Given the description of an element on the screen output the (x, y) to click on. 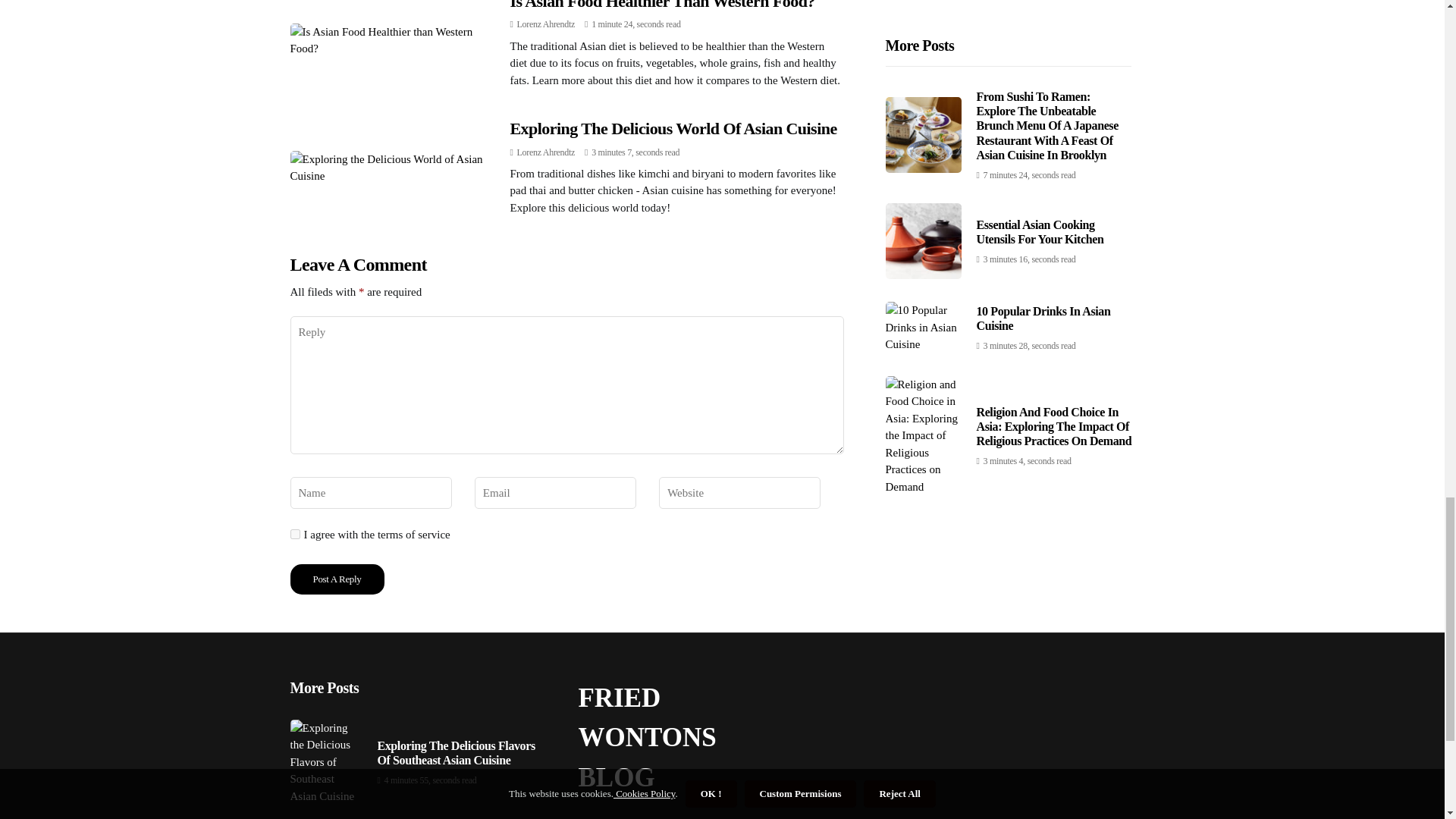
Posts by Lorenz Ahrendtz (545, 152)
Is Asian Food Healthier Than Western Food? (661, 5)
Post a Reply (336, 579)
Lorenz Ahrendtz (545, 23)
yes (294, 533)
Posts by Lorenz Ahrendtz (545, 23)
Post a Reply (336, 579)
Exploring The Delicious World Of Asian Cuisine (672, 128)
Lorenz Ahrendtz (545, 152)
